Given the description of an element on the screen output the (x, y) to click on. 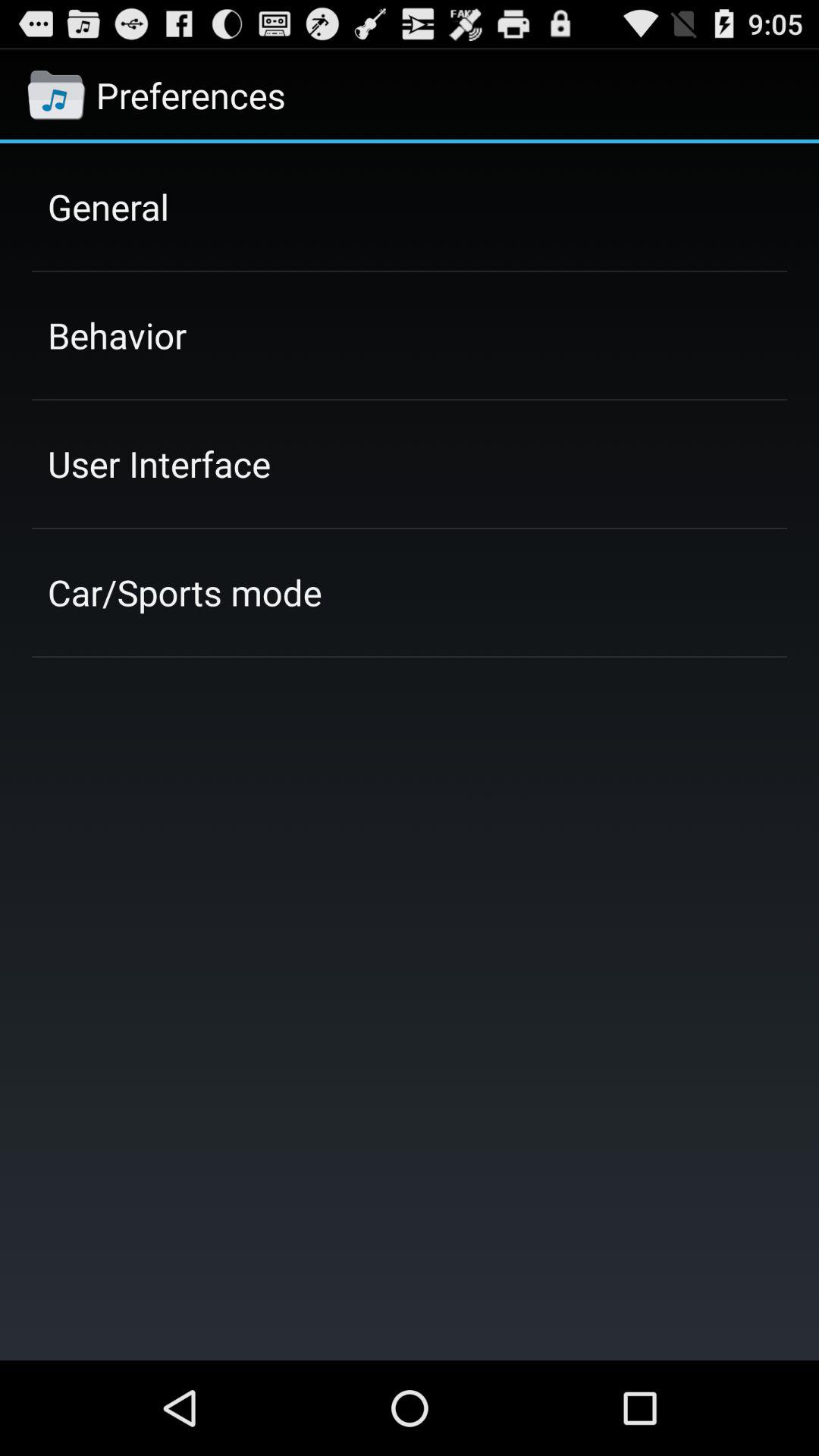
scroll to the car/sports mode (184, 592)
